Given the description of an element on the screen output the (x, y) to click on. 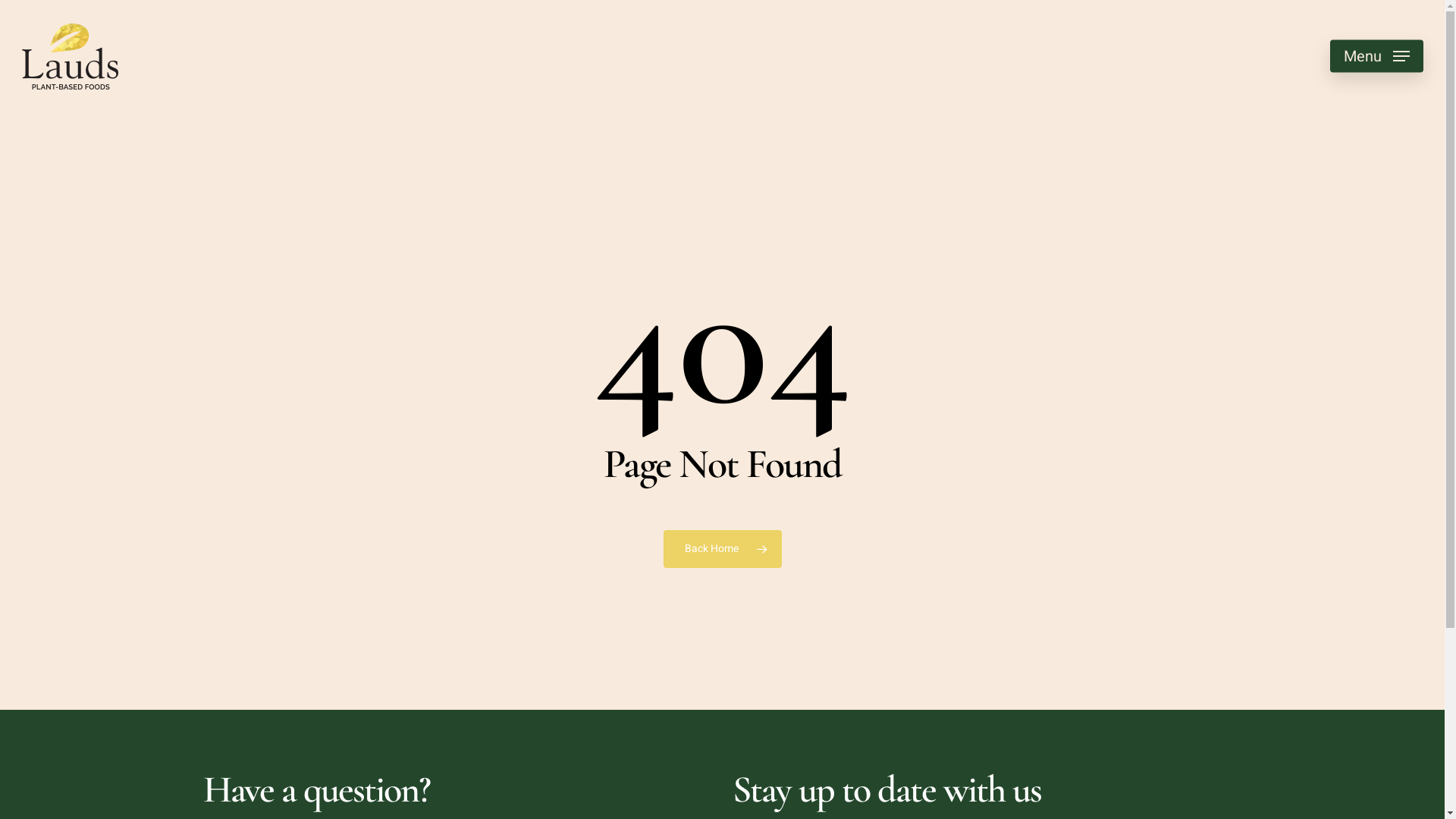
Back Home Element type: text (721, 548)
Menu Element type: text (1376, 56)
